Given the description of an element on the screen output the (x, y) to click on. 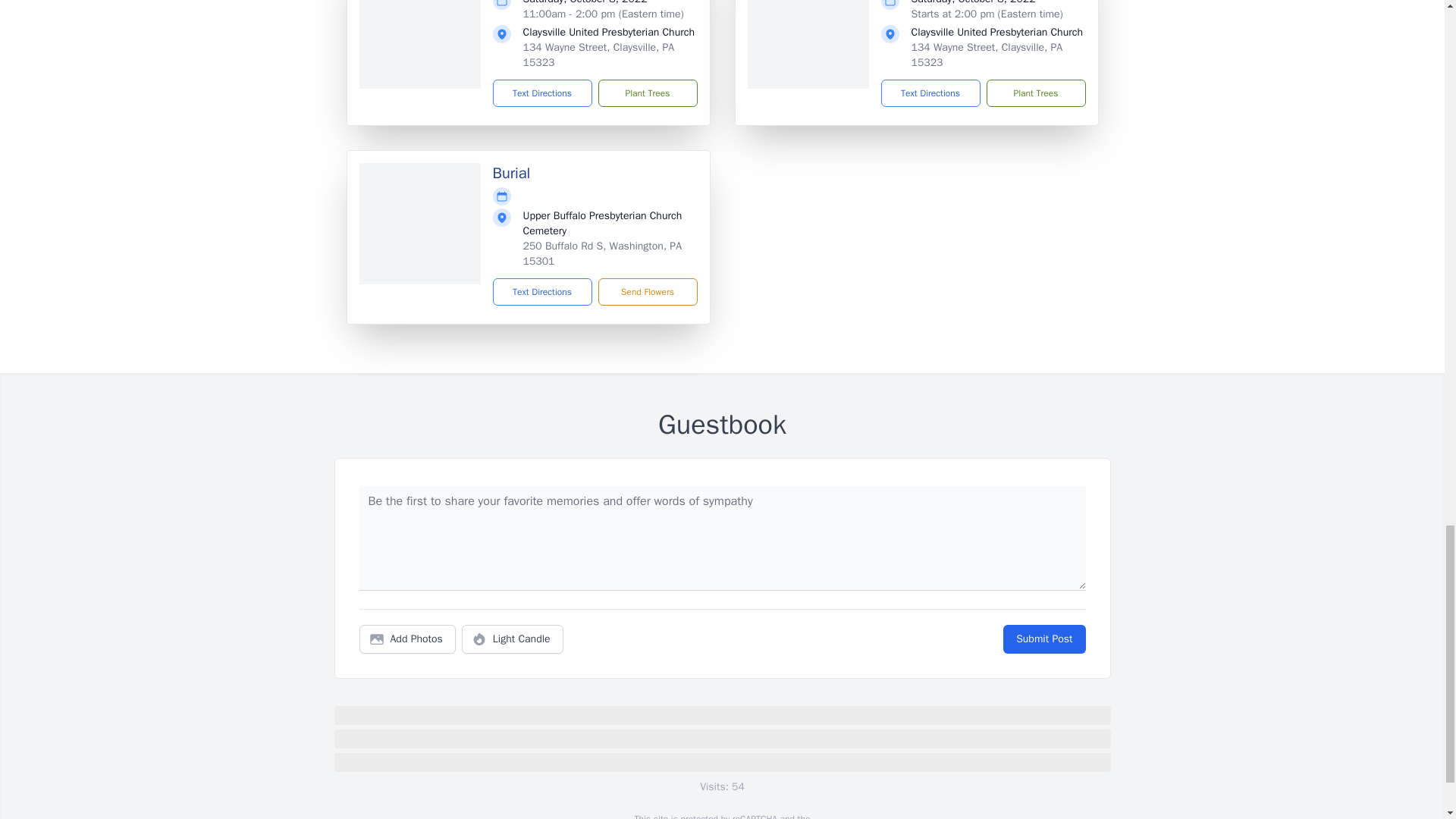
Send Flowers (646, 291)
250 Buffalo Rd S, Washington, PA 15301 (601, 253)
Add Photos (407, 638)
Submit Post (1043, 638)
Text Directions (542, 291)
Plant Trees (1034, 93)
134 Wayne Street, Claysville, PA 15323 (598, 54)
134 Wayne Street, Claysville, PA 15323 (986, 54)
Light Candle (512, 638)
Text Directions (929, 93)
